Given the description of an element on the screen output the (x, y) to click on. 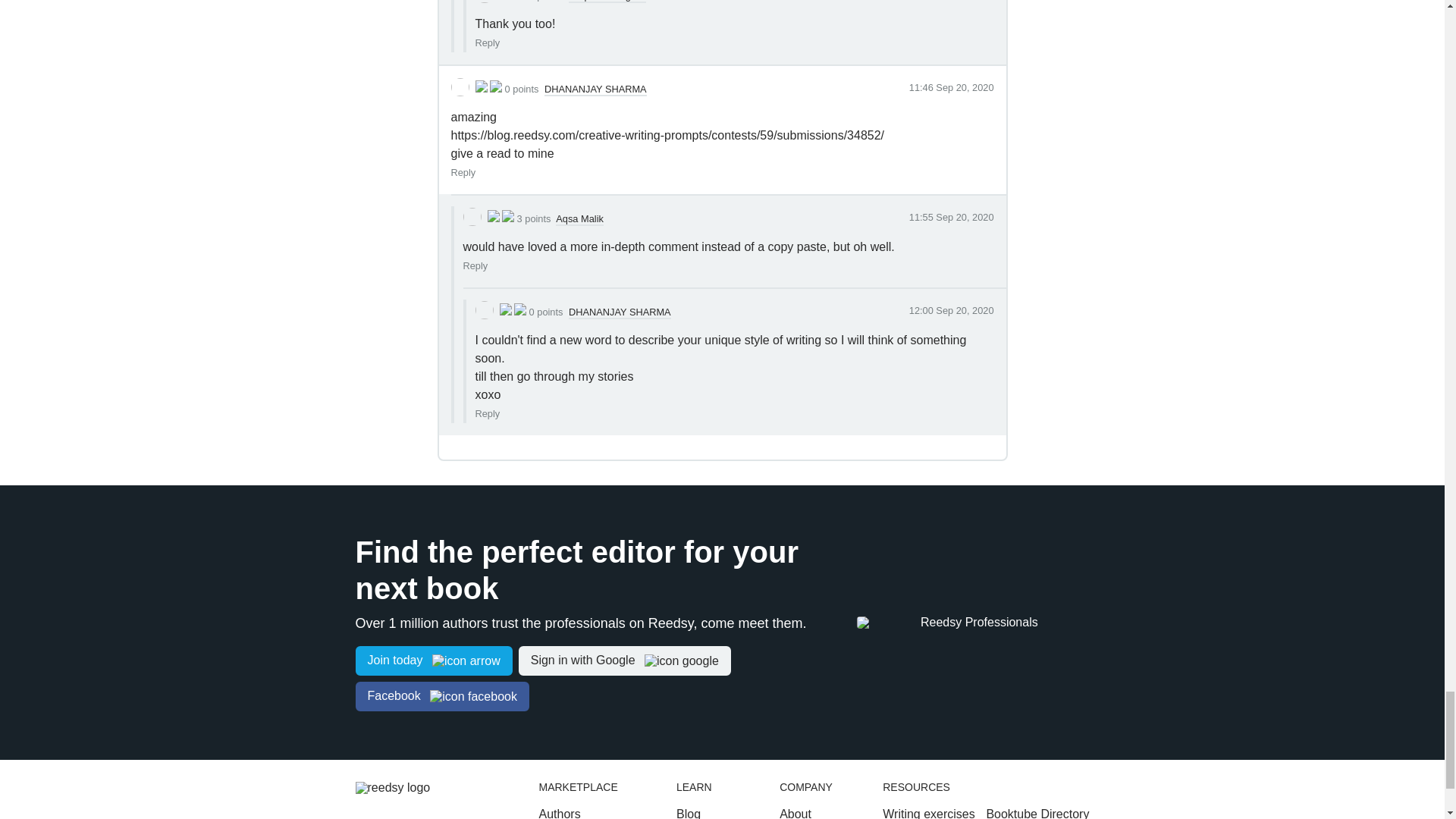
Sign in with Facebook (441, 696)
Sign in with Google (624, 660)
Sign up (433, 660)
